Given the description of an element on the screen output the (x, y) to click on. 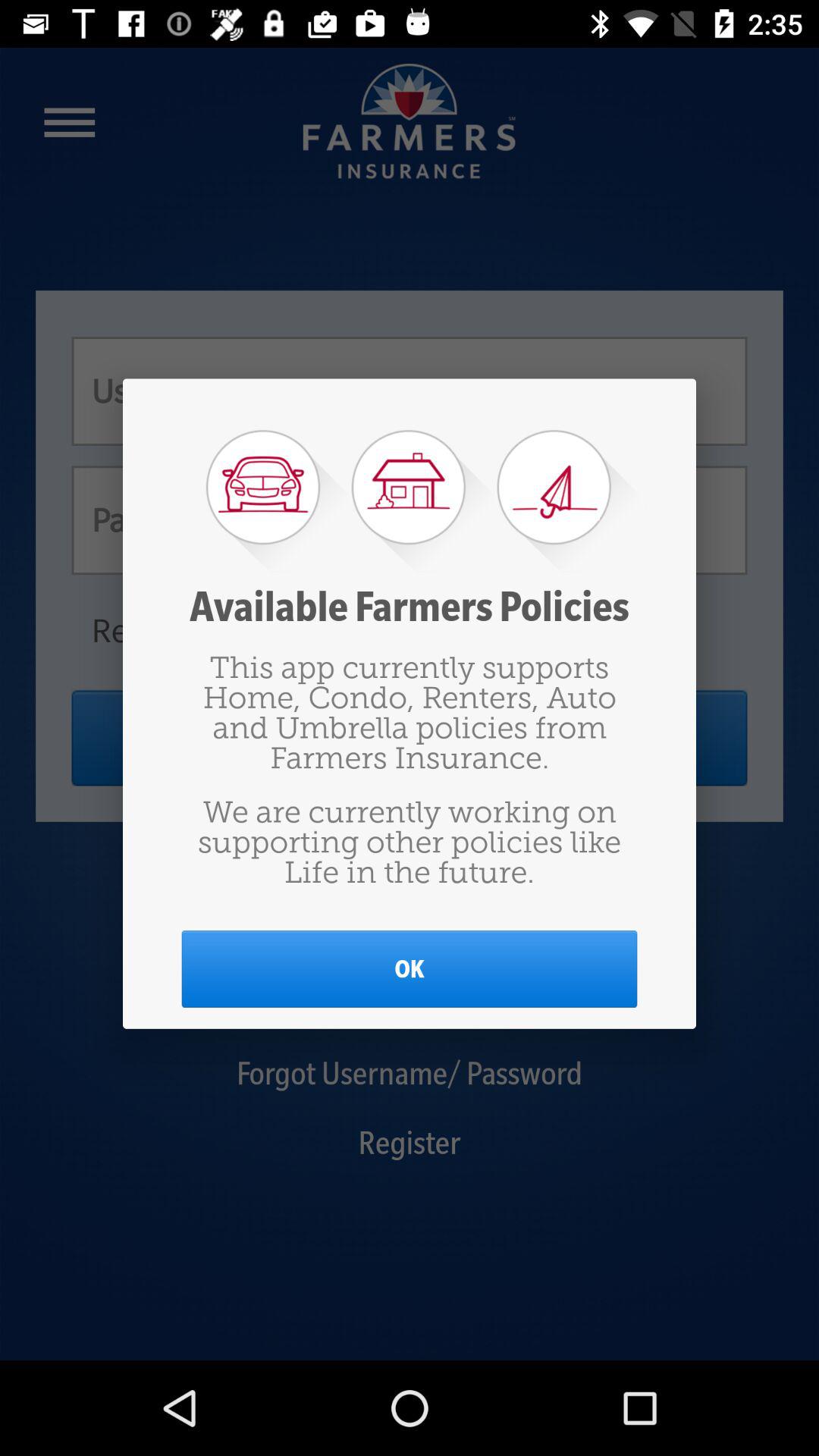
press the ok item (409, 968)
